Given the description of an element on the screen output the (x, y) to click on. 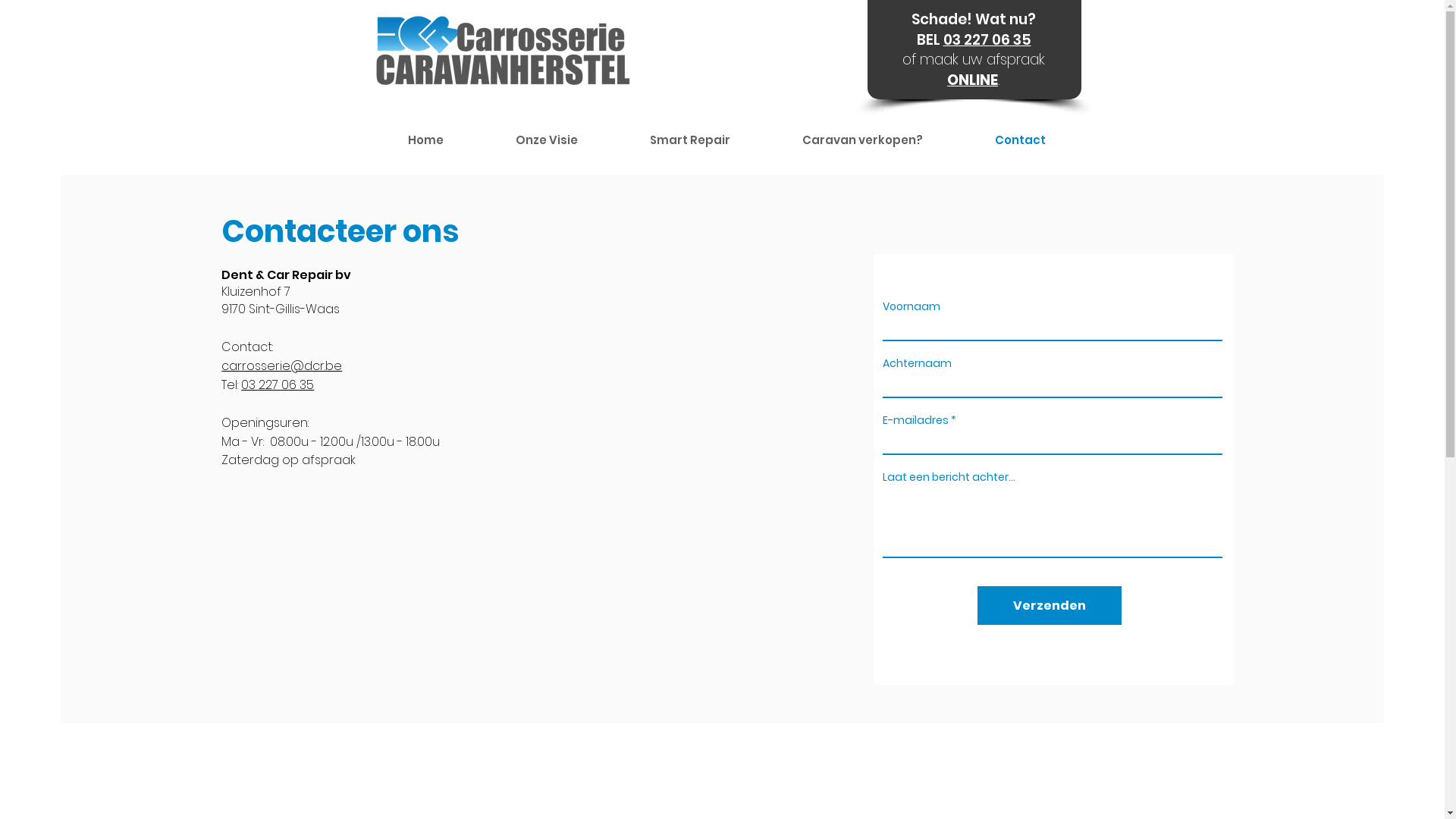
Caravan verkopen? Element type: text (861, 139)
ONLINE Element type: text (972, 79)
Smart Repair Element type: text (690, 139)
03 227 06 35 Element type: text (277, 384)
Verzenden Element type: text (1049, 605)
Onze Visie Element type: text (546, 139)
Home Element type: text (425, 139)
Contact Element type: text (1019, 139)
carrosserie@dcr.be Element type: text (281, 365)
03 227 06 35 Element type: text (987, 39)
